Given the description of an element on the screen output the (x, y) to click on. 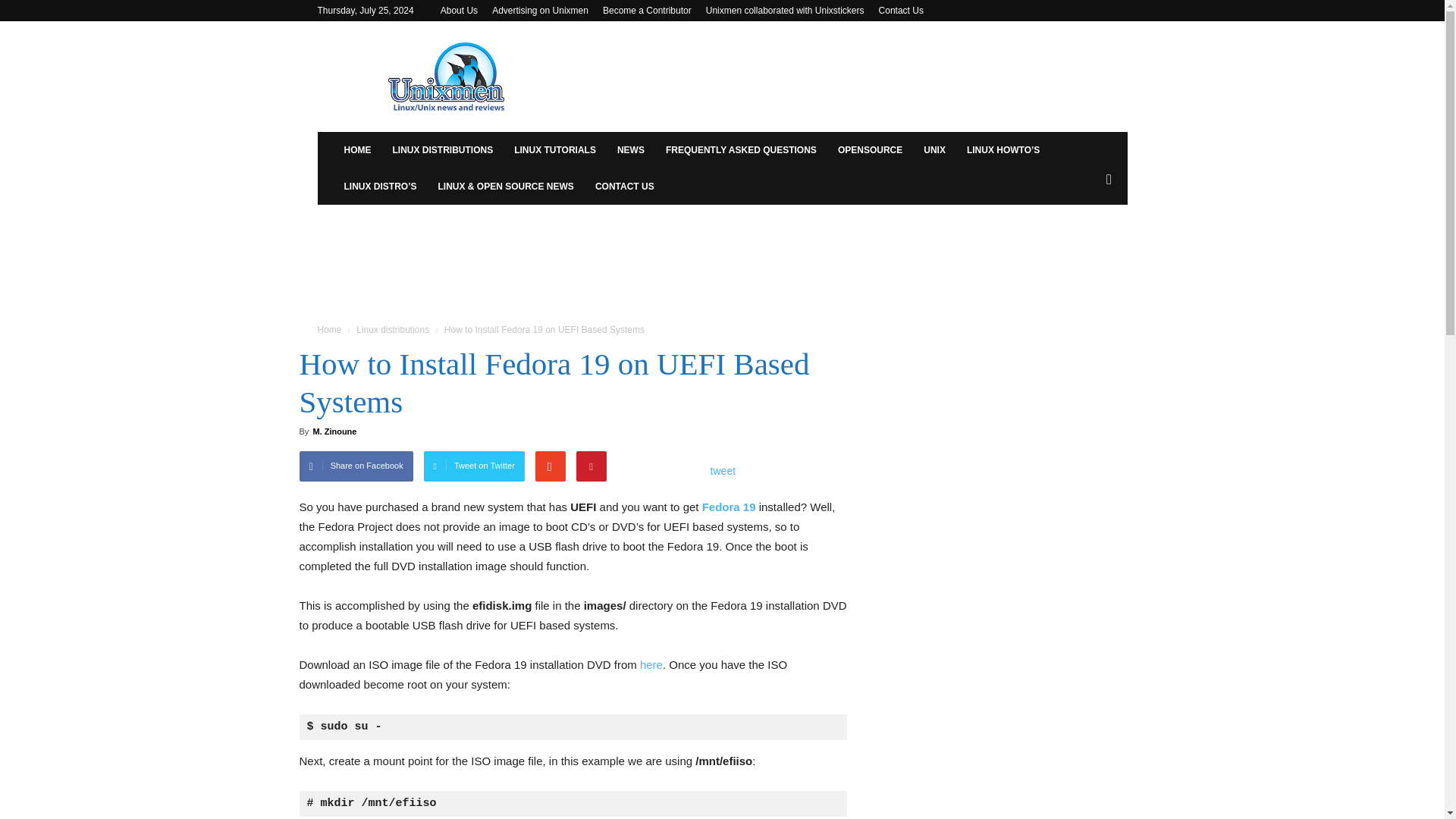
Unixmen collaborated with Unixstickers (785, 9)
Advertising on Unixmen (540, 9)
LINUX TUTORIALS (555, 149)
HOME (357, 149)
LINUX DISTRIBUTIONS (442, 149)
OPENSOURCE (869, 149)
NEWS (631, 149)
FREQUENTLY ASKED QUESTIONS (741, 149)
UNIX (934, 149)
View all posts in Linux distributions (392, 329)
Unixmen (445, 76)
Contact Us (901, 9)
About Us (459, 9)
Become a Contributor (646, 9)
